Given the description of an element on the screen output the (x, y) to click on. 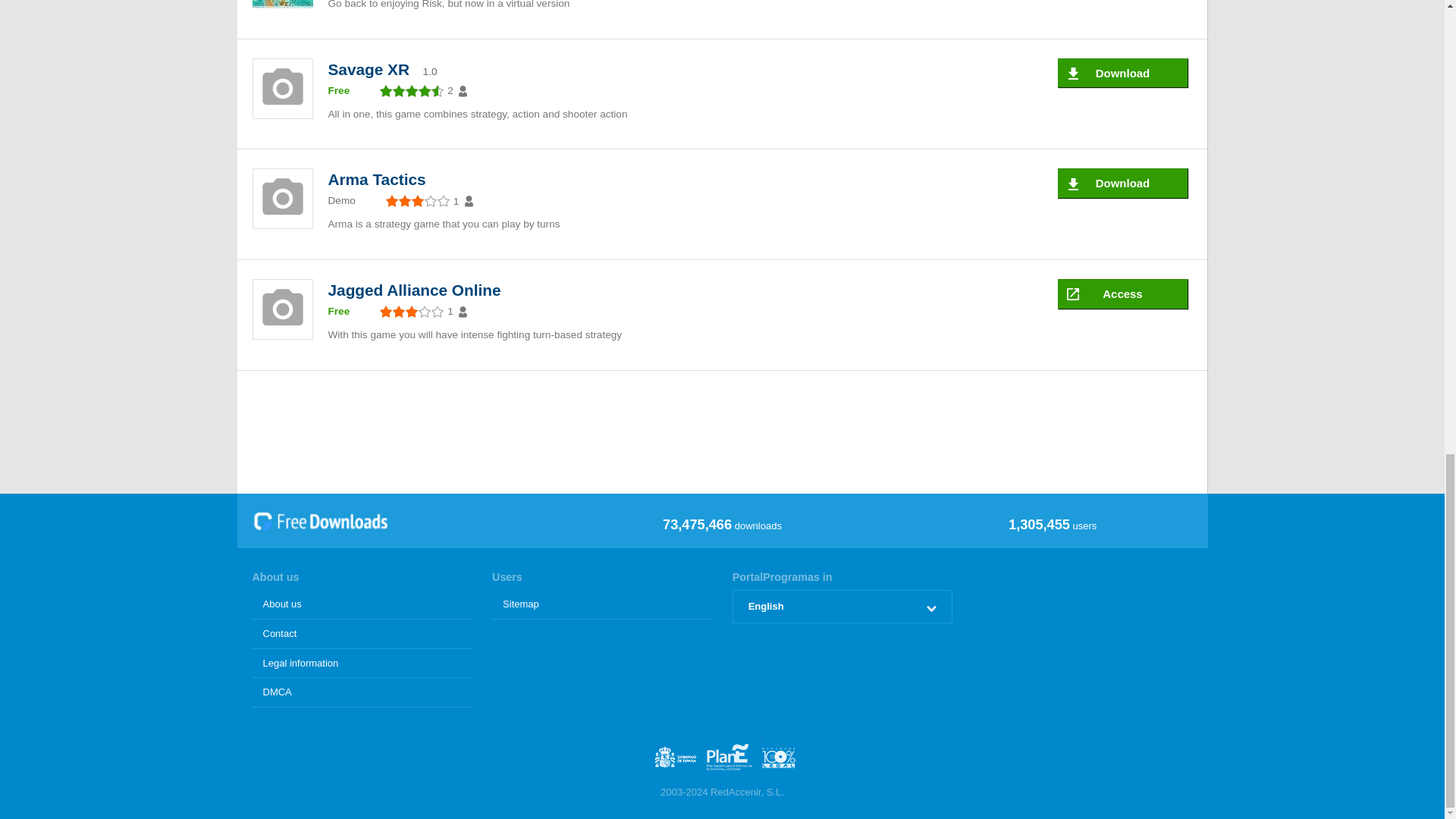
Arma Tactics (379, 179)
Savage XR (371, 69)
Legal information (361, 663)
DMCA (361, 692)
Contact (361, 634)
Sitemap (601, 604)
Download (1122, 73)
About us (361, 604)
Download (1122, 183)
Jagged Alliance Online (417, 290)
Access (1122, 294)
